Given the description of an element on the screen output the (x, y) to click on. 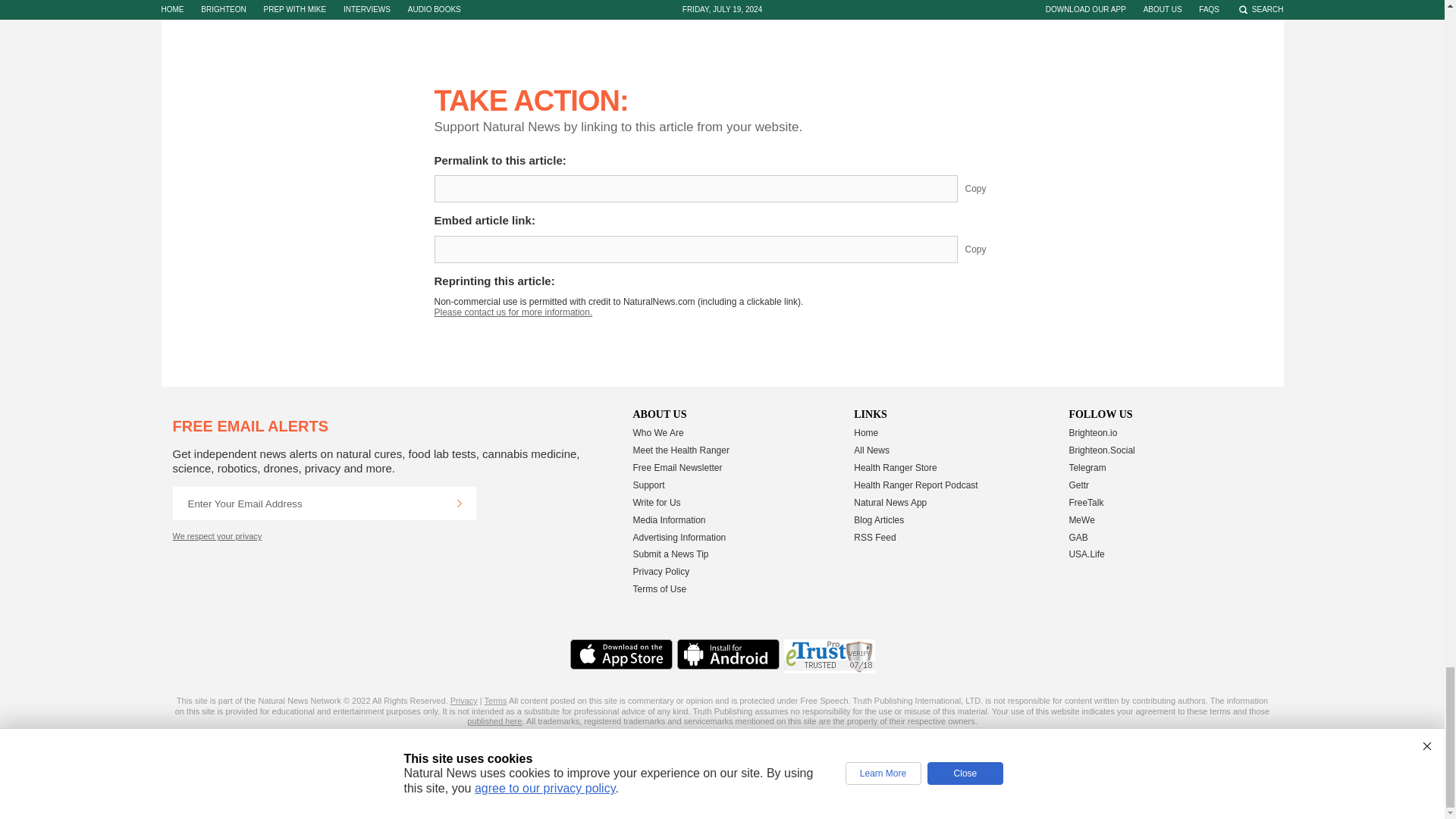
eTrust Pro Certified (829, 656)
Copy Embed Link (986, 248)
Continue (459, 503)
Copy Permalink (986, 188)
